Given the description of an element on the screen output the (x, y) to click on. 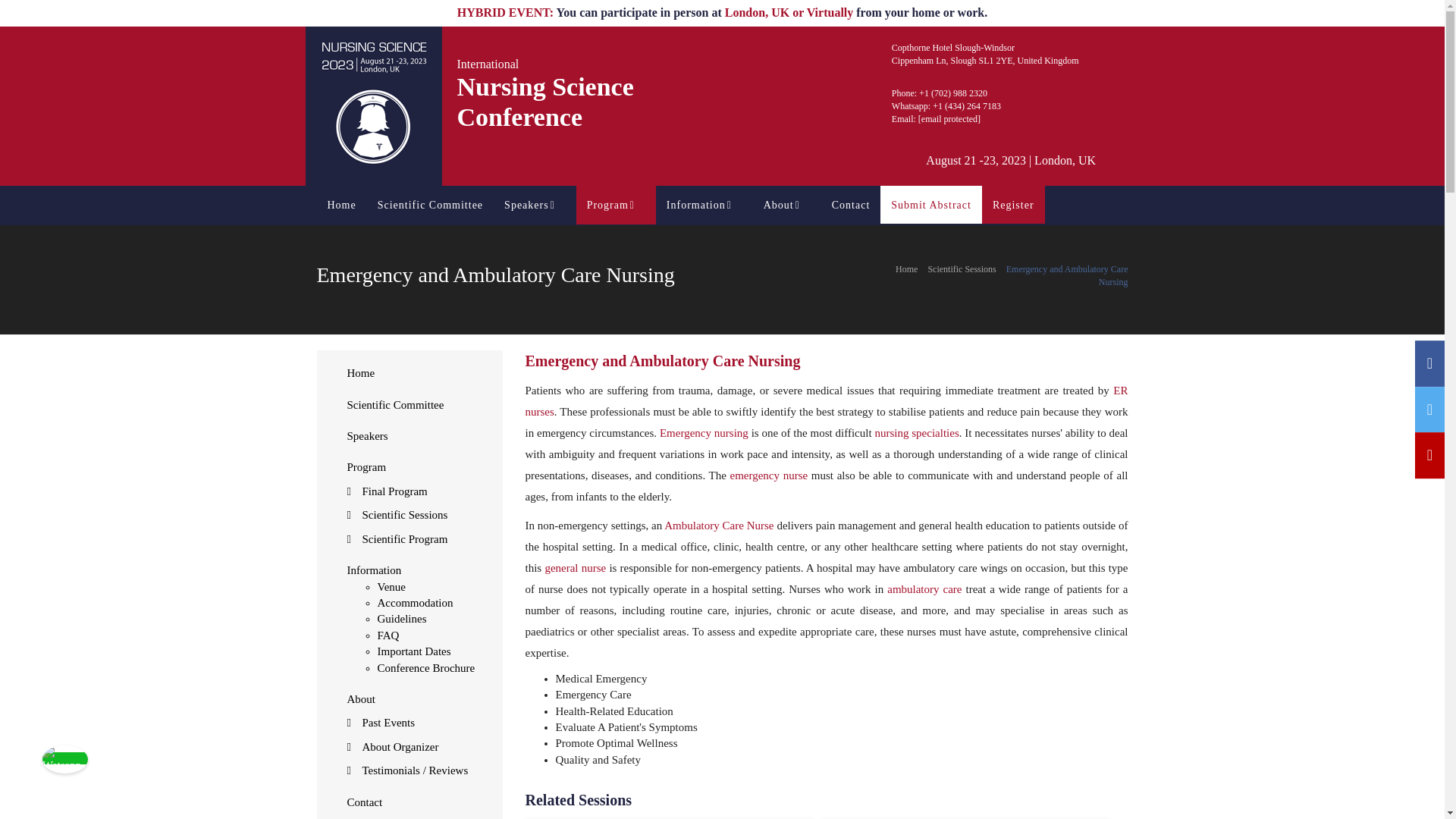
Home (341, 204)
Important Dates (414, 651)
Home (361, 372)
Program (616, 204)
Scientific Committee (429, 204)
Venue (391, 586)
Program (367, 467)
Home (341, 204)
Information (704, 204)
Accommodation (414, 603)
Program (616, 204)
Speakers (534, 204)
Contact (850, 204)
Scientific Program (405, 539)
Scientific Committee (395, 404)
